Given the description of an element on the screen output the (x, y) to click on. 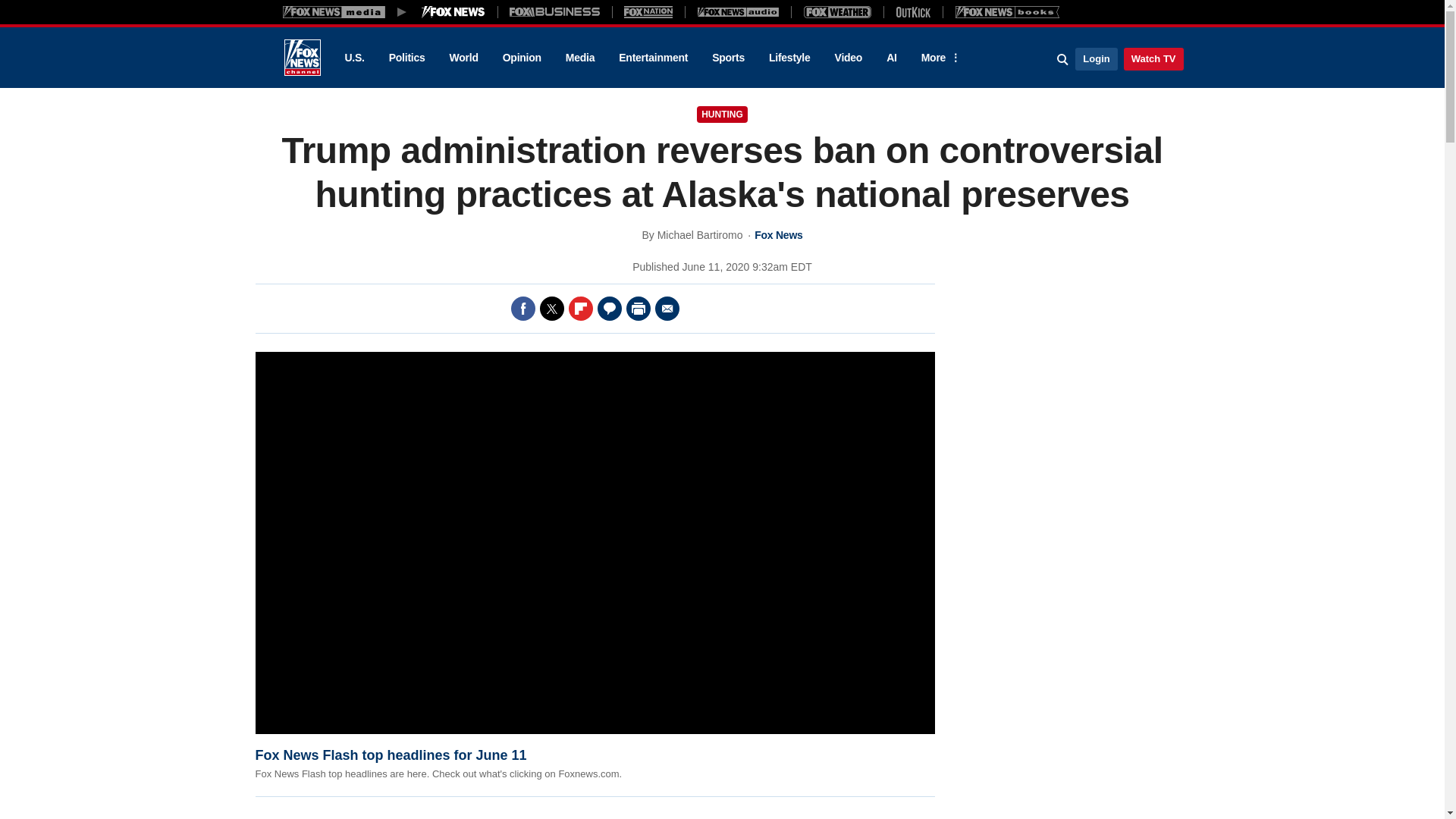
Video (848, 57)
Fox Nation (648, 11)
More (938, 57)
Fox Business (554, 11)
Politics (407, 57)
Fox News Media (453, 11)
Fox News Audio (737, 11)
Books (1007, 11)
Login (1095, 58)
Fox Weather (836, 11)
